Given the description of an element on the screen output the (x, y) to click on. 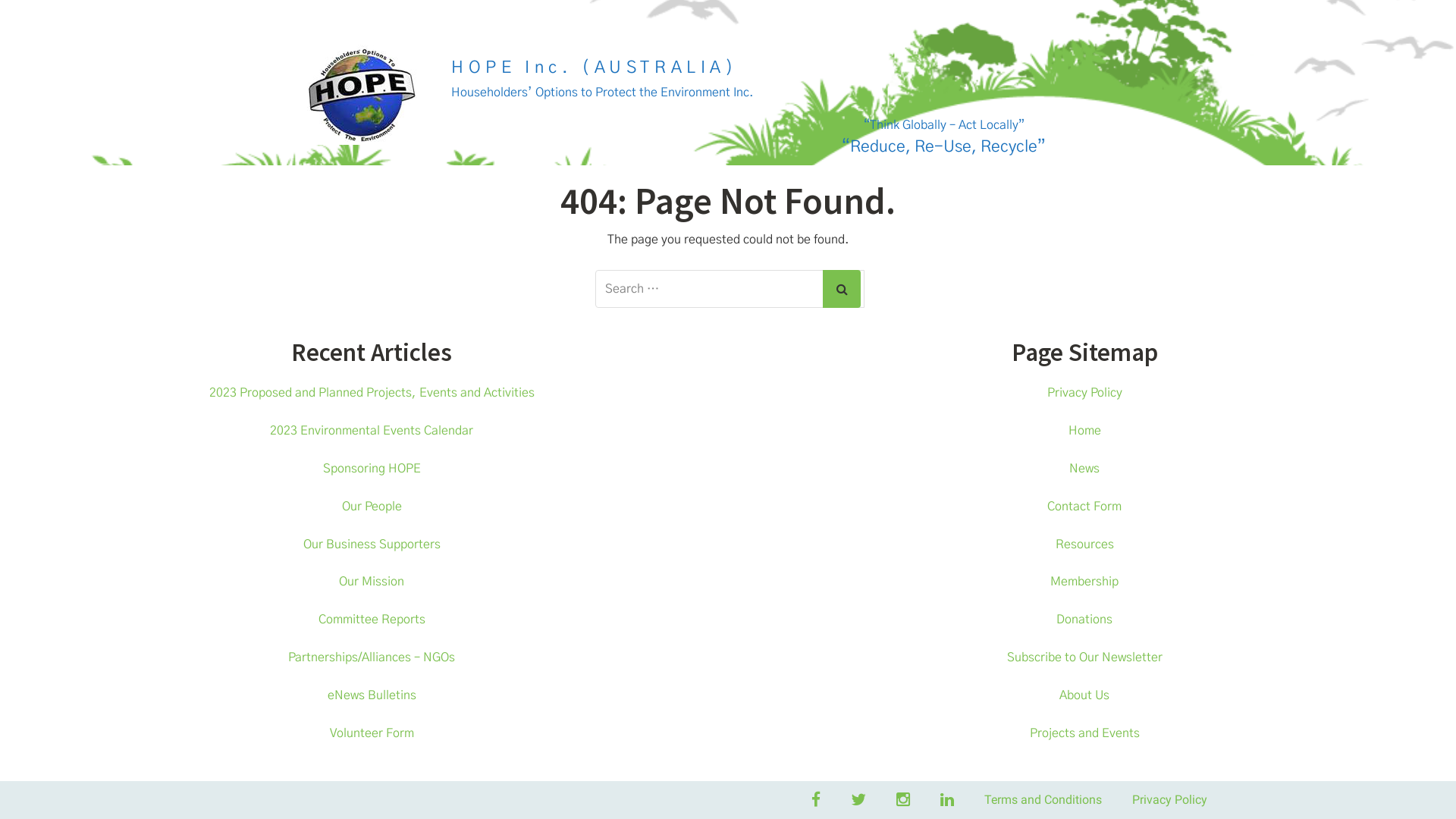
2023 Proposed and Planned Projects, Events and Activities Element type: text (371, 392)
Subscribe to Our Newsletter Element type: text (1084, 657)
2023 Environmental Events Calendar Element type: text (371, 430)
eNews Bulletins Element type: text (371, 695)
Privacy Policy Element type: text (1083, 392)
Contact Form Element type: text (1084, 506)
Donations Element type: text (1084, 619)
About Us Element type: text (1084, 695)
Membership Element type: text (1084, 581)
Our Business Supporters Element type: text (371, 544)
Volunteer Form Element type: text (371, 733)
Resources Element type: text (1084, 544)
Committee Reports Element type: text (371, 619)
Our Mission Element type: text (371, 581)
Projects and Events Element type: text (1084, 733)
News Element type: text (1084, 468)
Sponsoring HOPE Element type: text (371, 468)
Home Element type: text (1083, 430)
Our People Element type: text (371, 506)
